Given the description of an element on the screen output the (x, y) to click on. 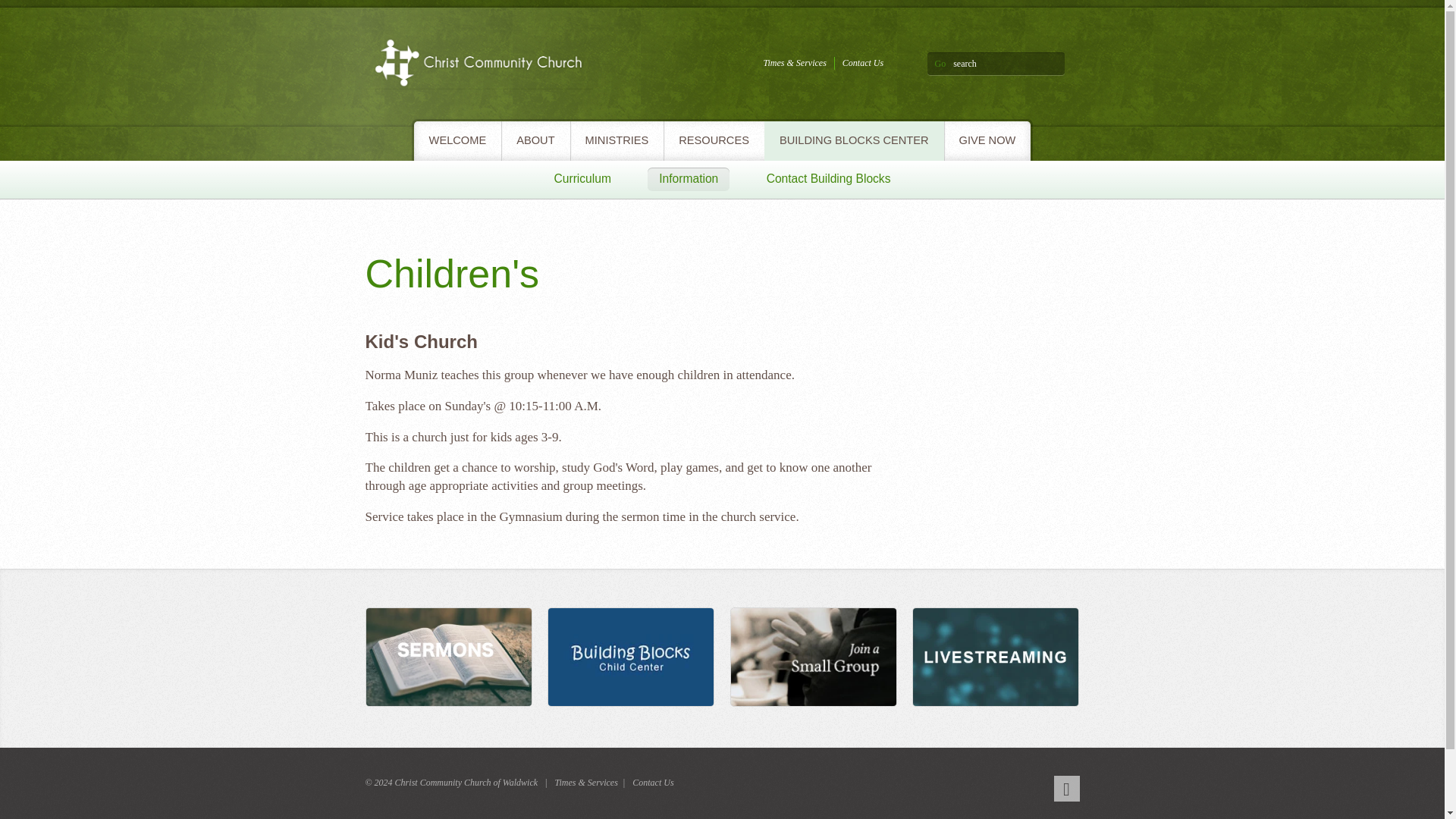
MINISTRIES (616, 140)
Contact Us (652, 782)
search (1008, 63)
WELCOME (457, 140)
Facebook (1067, 788)
Sermons (448, 658)
Small Group (812, 658)
ABOUT (534, 140)
Welcome (996, 658)
Building Blocks (630, 658)
Contact Us (863, 62)
Contact Us (863, 62)
Go (939, 63)
